Given the description of an element on the screen output the (x, y) to click on. 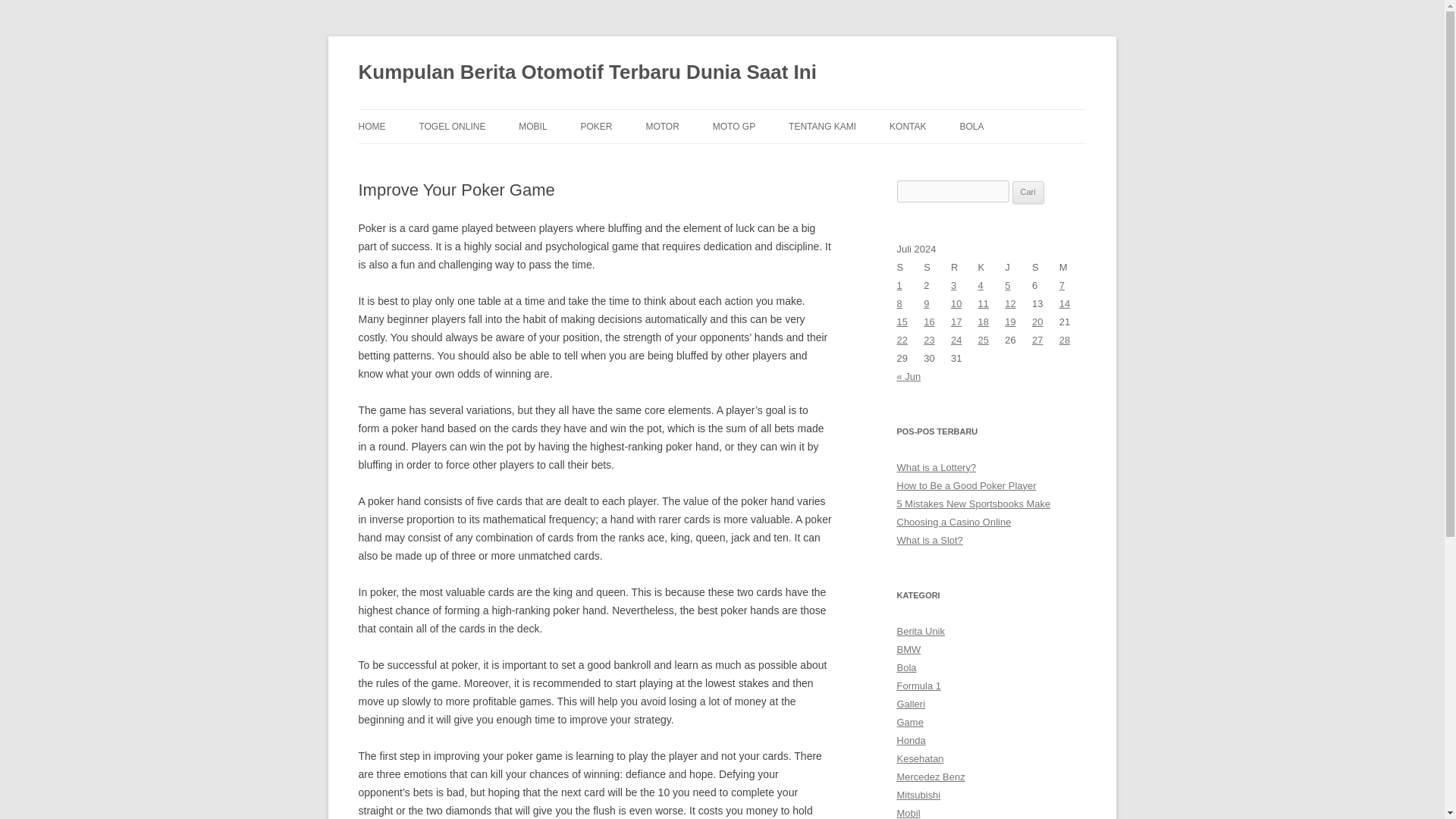
mobil bmw yang beredar dipasaran (908, 649)
Cari (1027, 191)
16 (928, 321)
7 (1061, 285)
mobil mitsubishi (918, 794)
MOTO GP (734, 126)
Minggu (1072, 267)
MOTOR (661, 126)
Senin (909, 267)
4 (981, 285)
Jumat (1018, 267)
Sabtu (1045, 267)
15 (901, 321)
TOGEL ONLINE (451, 126)
balap formula 1 (918, 685)
